Given the description of an element on the screen output the (x, y) to click on. 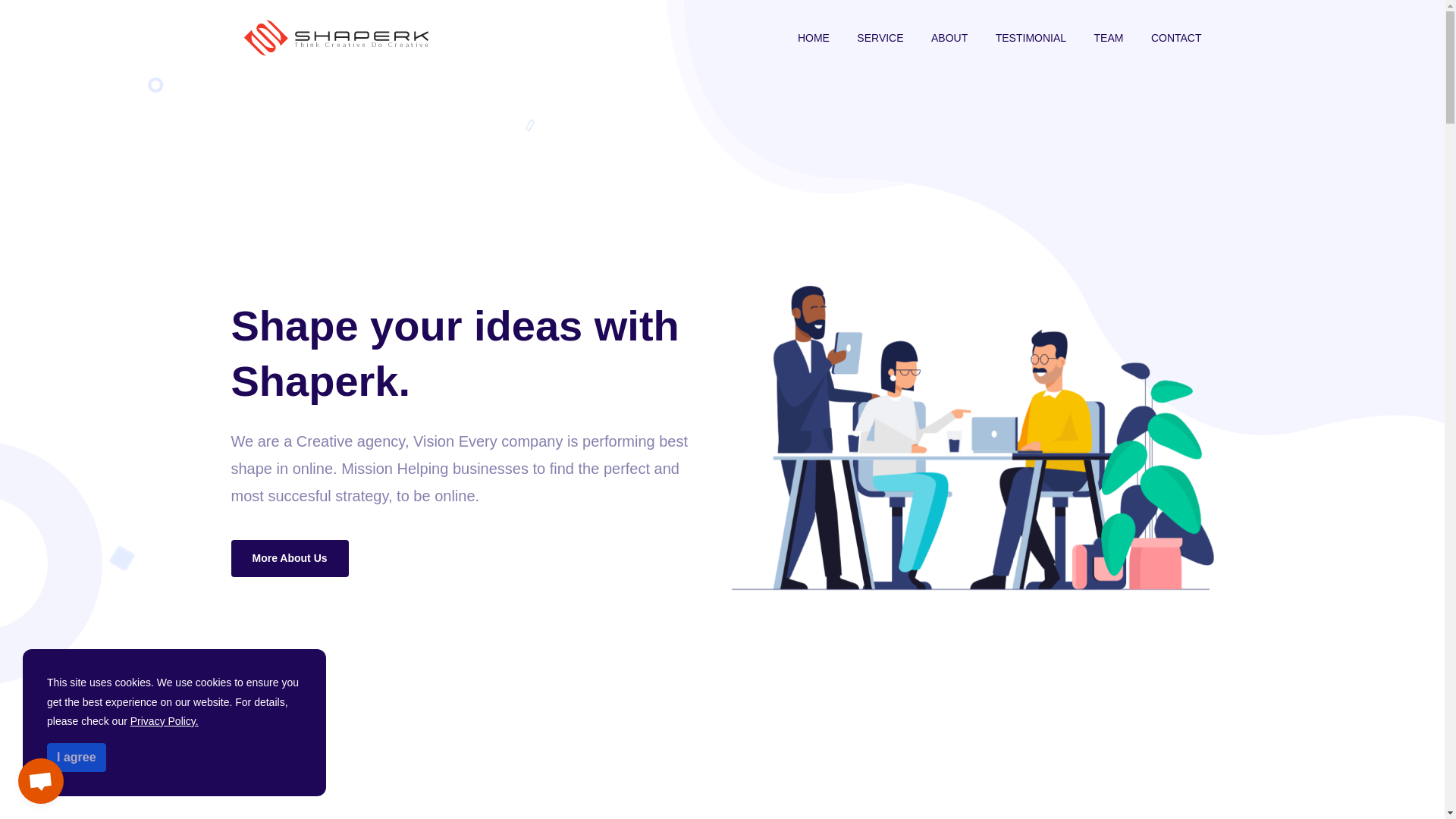
TESTIMONIAL (1031, 37)
ABOUT (948, 37)
TEAM (1108, 37)
More About Us (288, 565)
SERVICE (879, 37)
CONTACT (1176, 37)
HOME (813, 37)
